Given the description of an element on the screen output the (x, y) to click on. 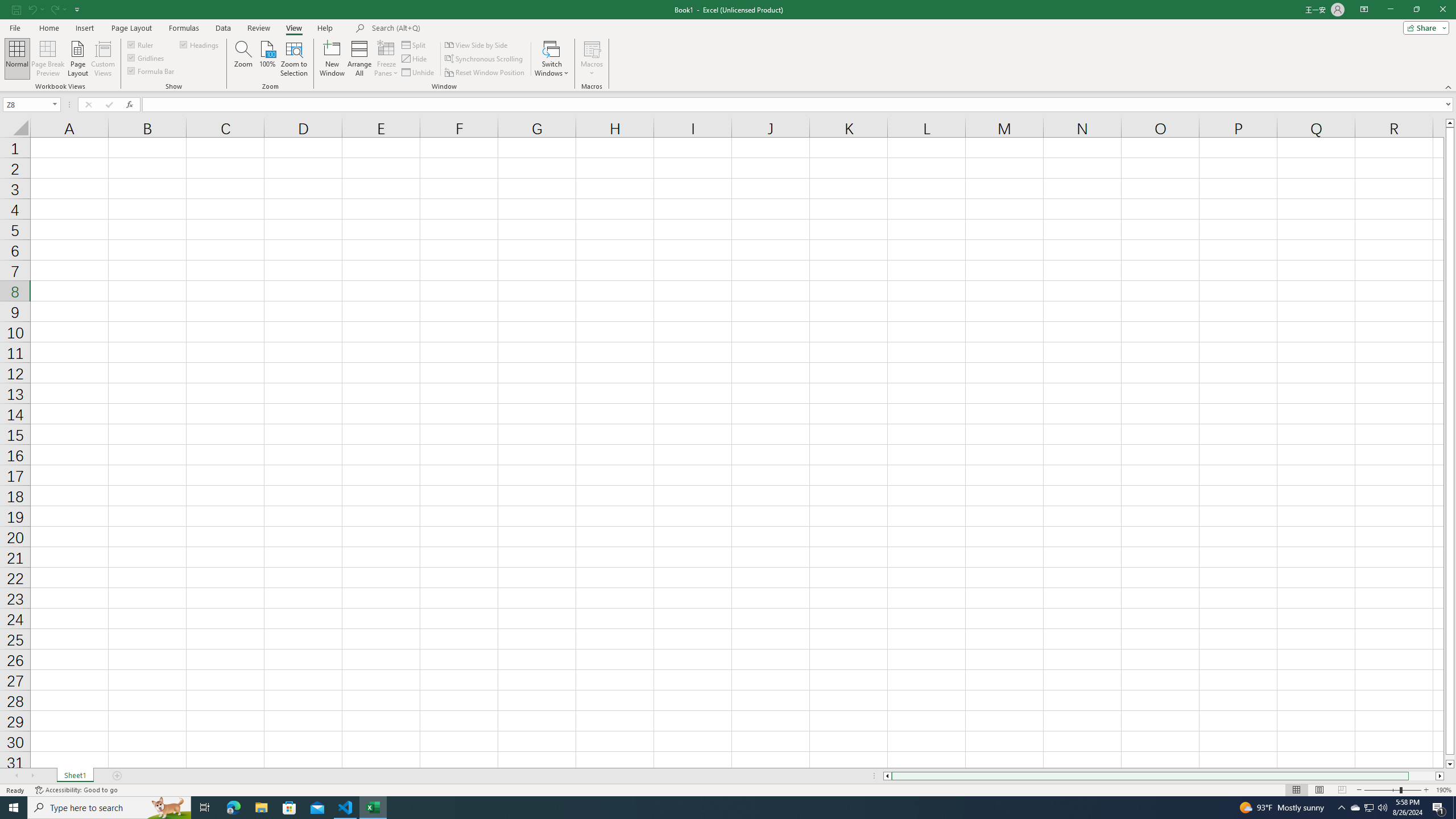
Synchronous Scrolling (484, 58)
Freeze Panes (386, 58)
View Macros (591, 48)
